Given the description of an element on the screen output the (x, y) to click on. 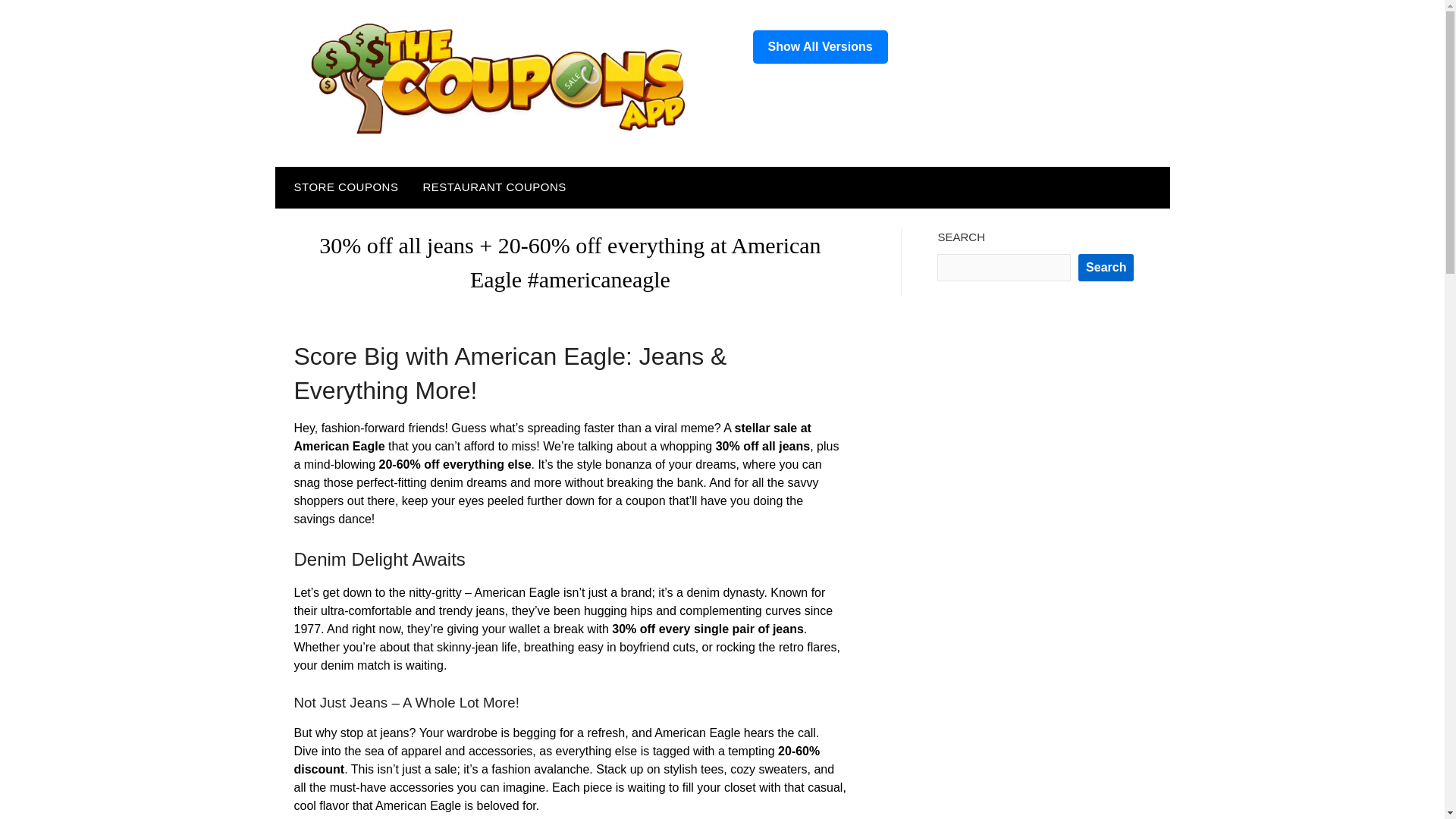
STORE COUPONS (342, 187)
Show All Versions (819, 46)
RESTAURANT COUPONS (494, 187)
